Given the description of an element on the screen output the (x, y) to click on. 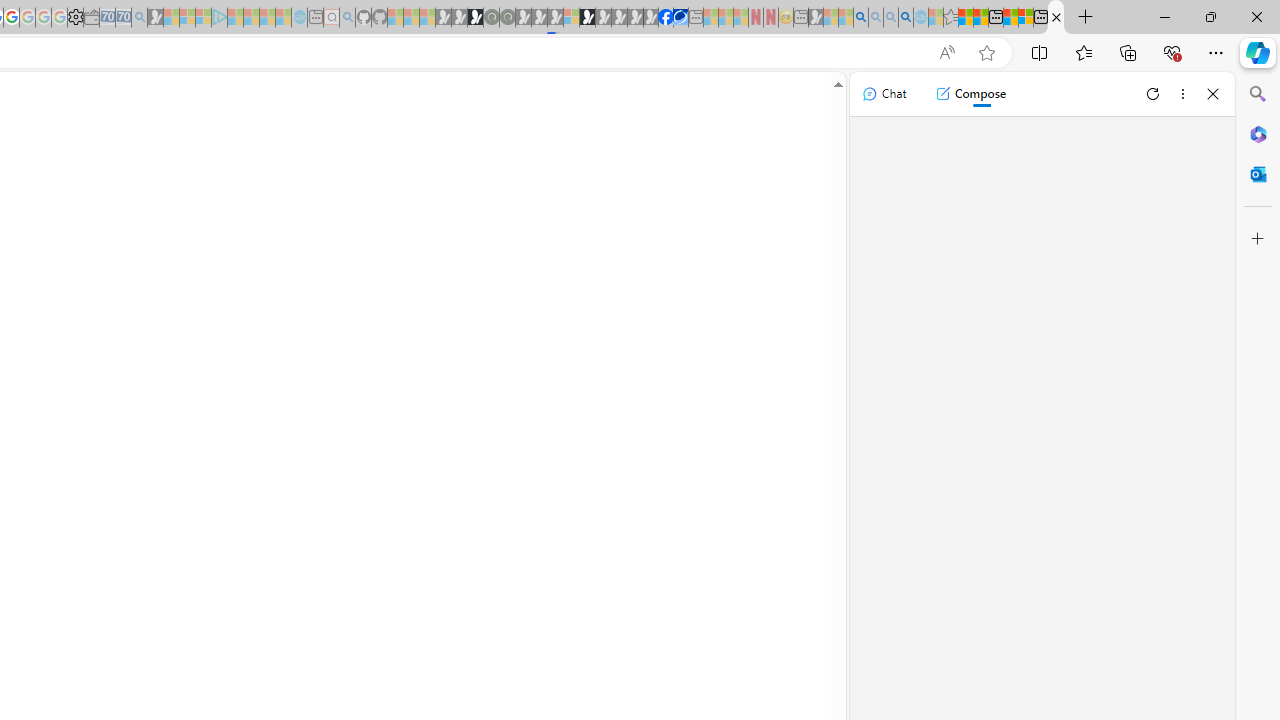
Sign in to your account - Sleeping (571, 17)
Compose (970, 93)
LinkedIn (1055, 17)
